Given the description of an element on the screen output the (x, y) to click on. 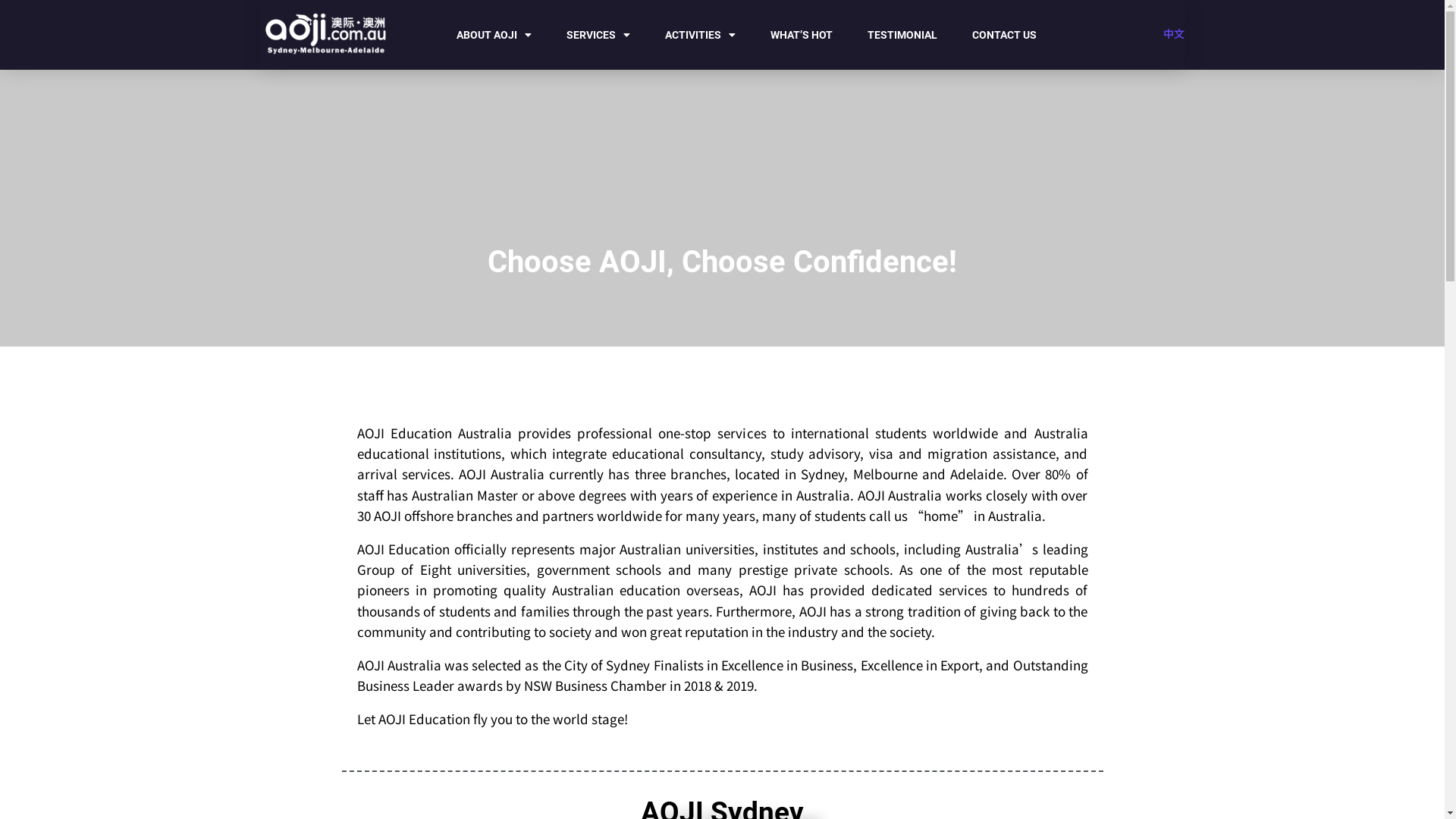
SERVICES Element type: text (598, 34)
ABOUT AOJI Element type: text (493, 34)
CONTACT US Element type: text (1004, 34)
ACTIVITIES Element type: text (699, 34)
TESTIMONIAL Element type: text (902, 34)
